Given the description of an element on the screen output the (x, y) to click on. 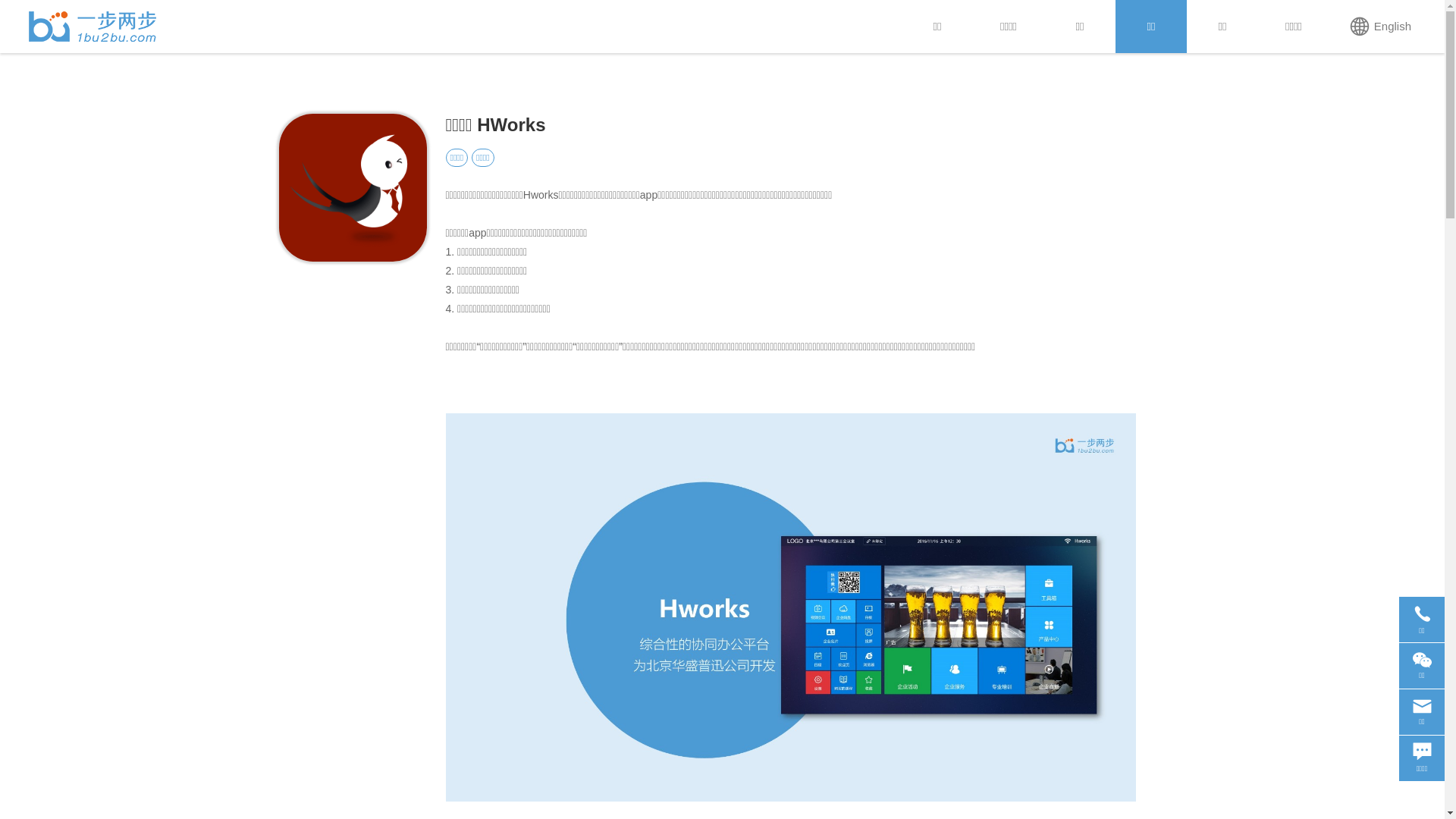
English Element type: text (1379, 26)
